Given the description of an element on the screen output the (x, y) to click on. 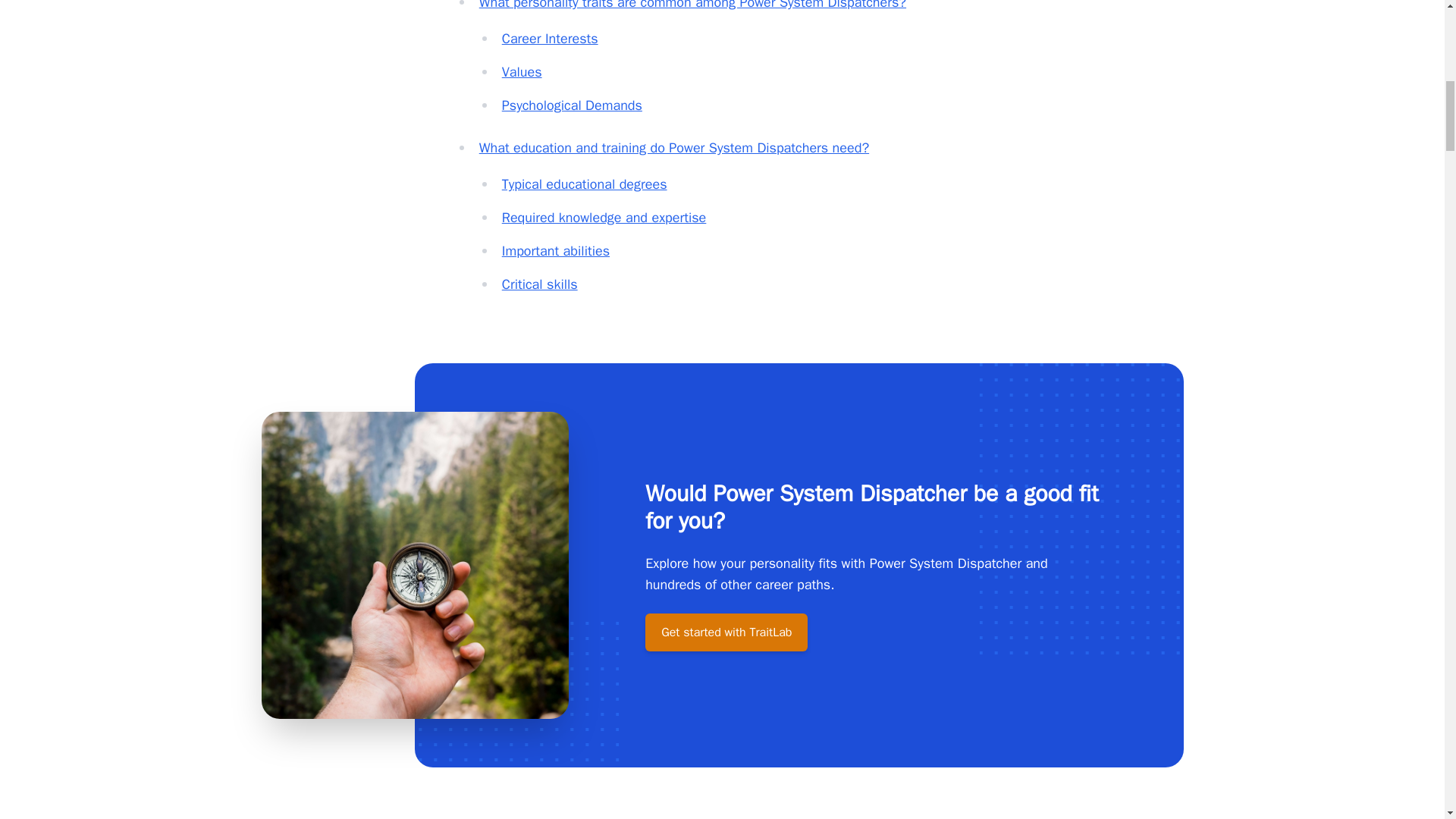
Psychological Demands (572, 105)
Required knowledge and expertise (604, 217)
Typical educational degrees (584, 184)
Values (521, 71)
Critical skills (540, 284)
Career Interests (550, 38)
Important abilities (556, 250)
Get started with TraitLab (726, 632)
